Given the description of an element on the screen output the (x, y) to click on. 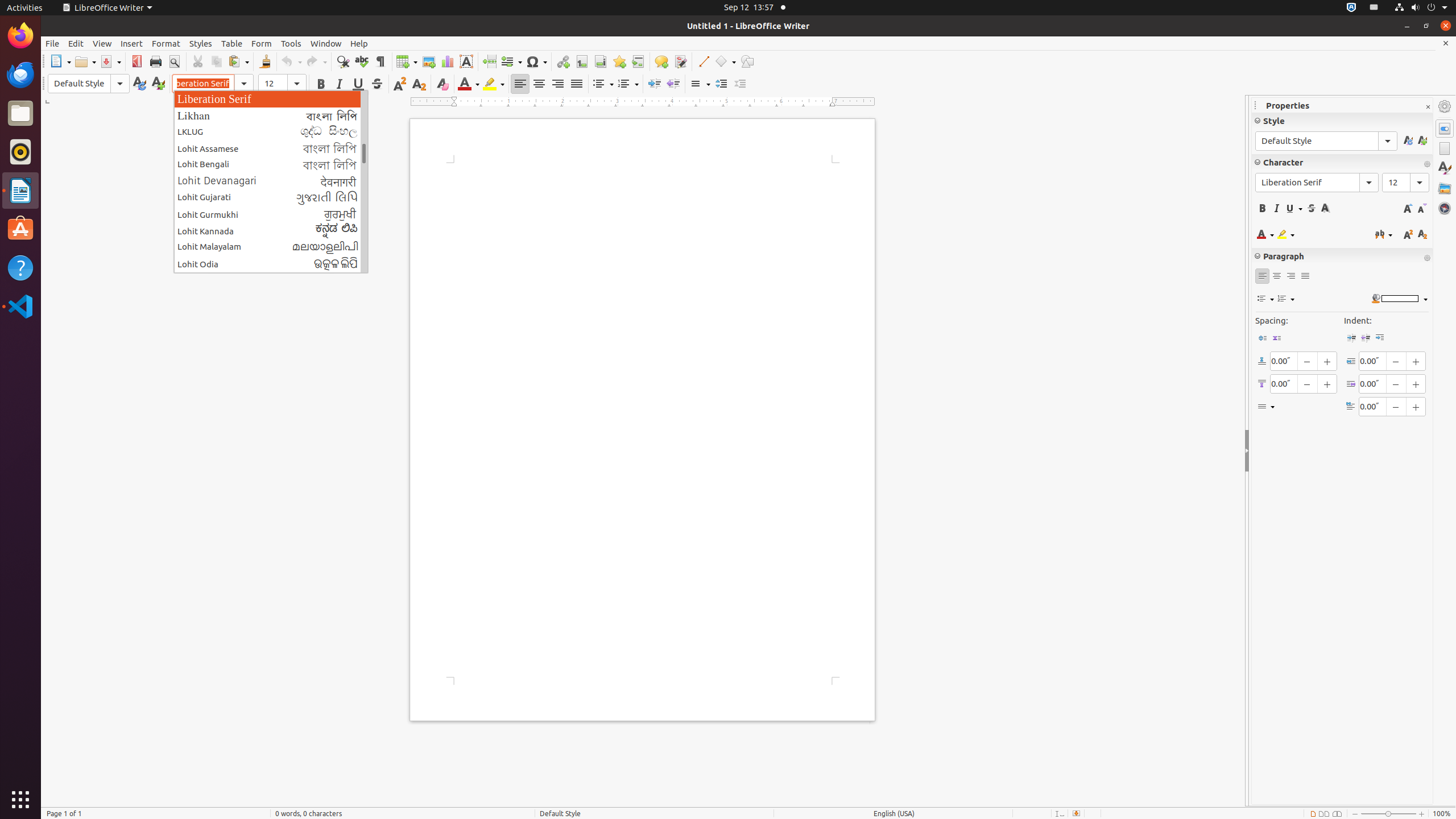
Hyperlink Element type: toggle-button (562, 61)
Format Element type: menu (165, 43)
Tools Element type: menu (290, 43)
Footnote Element type: push-button (581, 61)
Table Element type: push-button (406, 61)
